Given the description of an element on the screen output the (x, y) to click on. 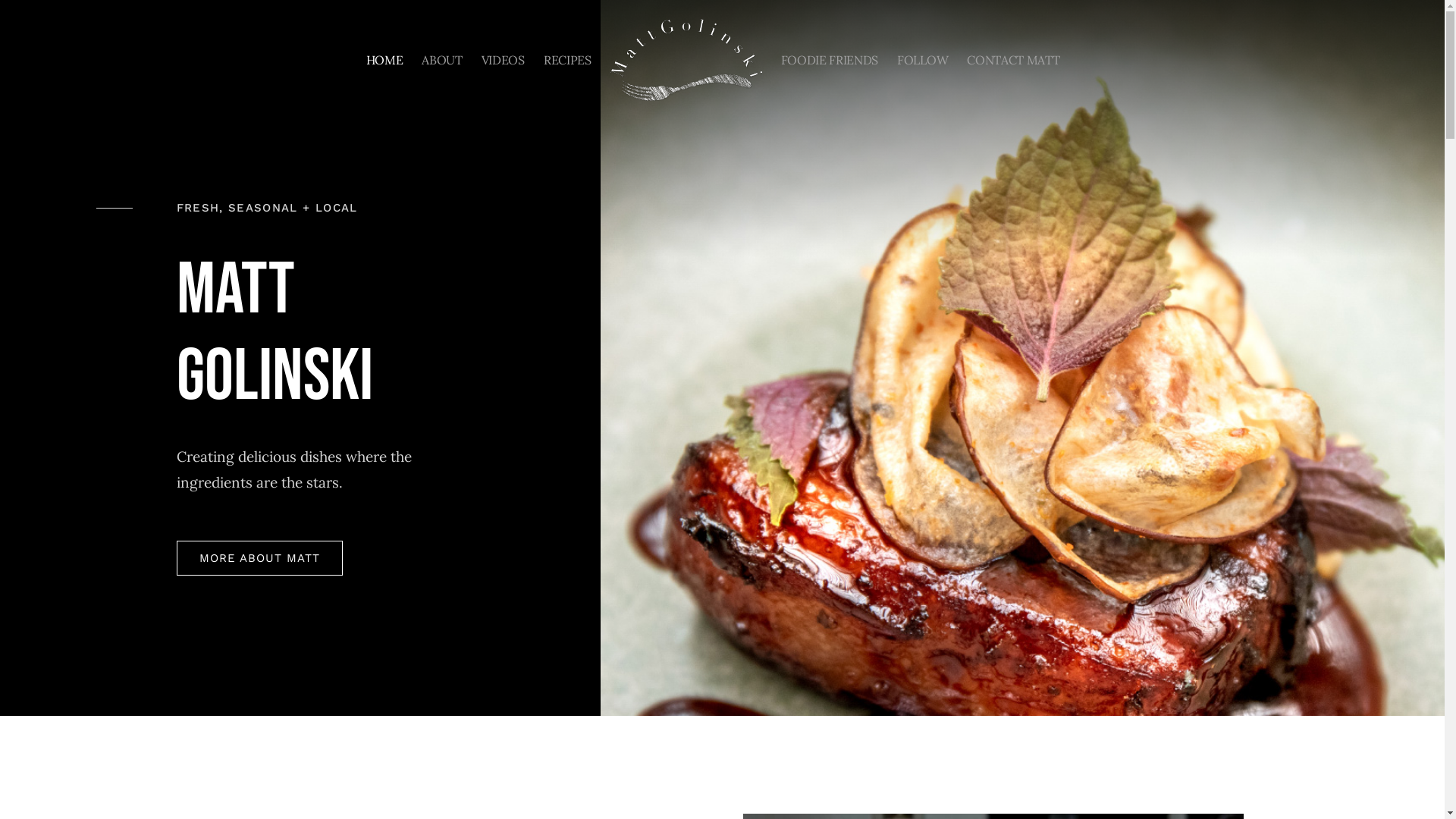
VIDEOS Element type: text (502, 59)
MORE ABOUT MATT Element type: text (259, 557)
RECIPES Element type: text (567, 59)
FOLLOW Element type: text (922, 59)
HOME Element type: text (384, 59)
ABOUT Element type: text (441, 59)
FOODIE FRIENDS Element type: text (829, 59)
CONTACT MATT Element type: text (1012, 59)
